Given the description of an element on the screen output the (x, y) to click on. 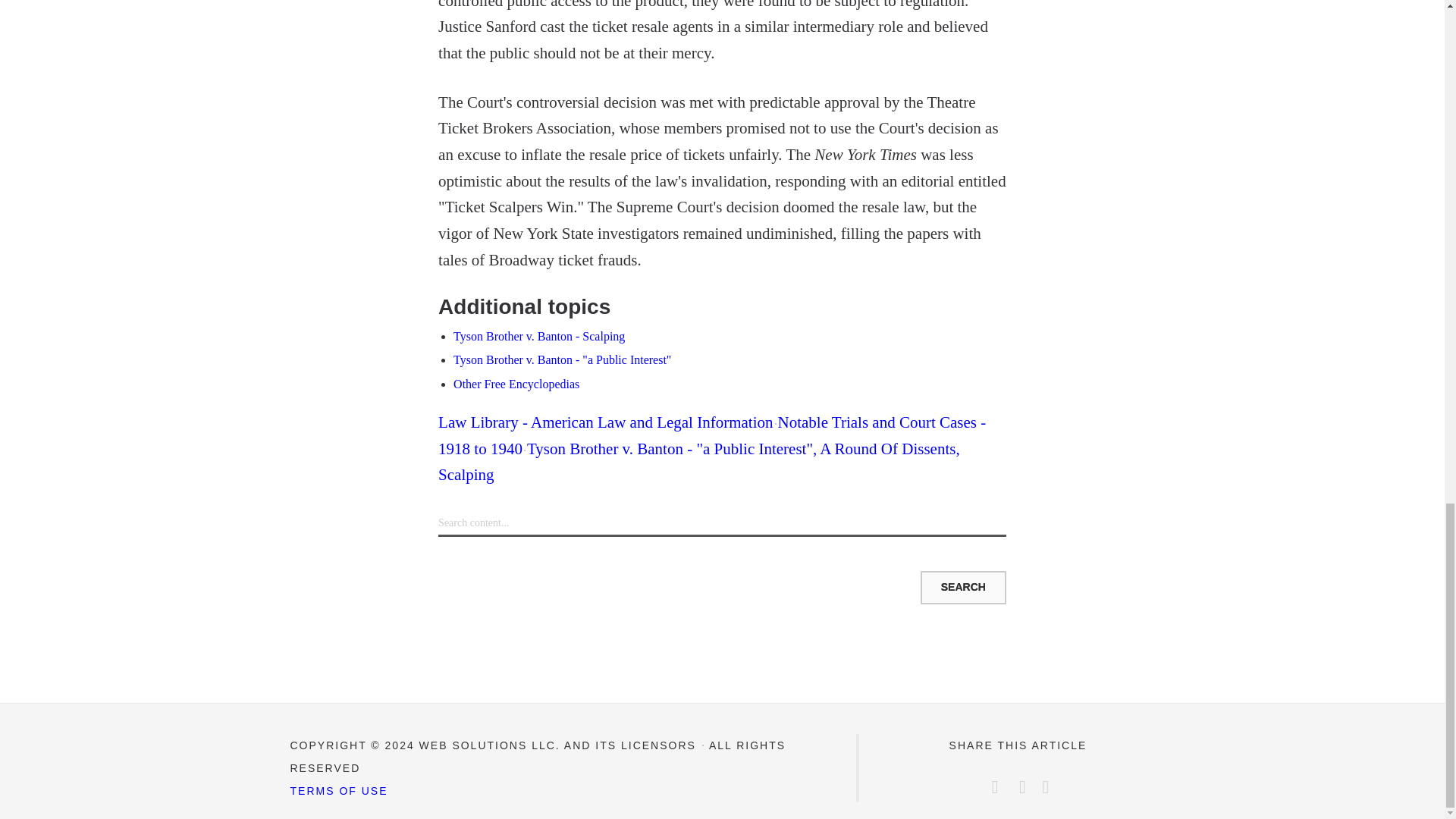
Tyson Brother v. Banton - Scalping (538, 336)
Search (963, 587)
Law Library - American Law and Legal Information (605, 422)
Other Free Encyclopedias (515, 383)
Tyson Brother v. Banton - "a Public Interest" (561, 359)
Search (963, 587)
Notable Trials and Court Cases - 1918 to 1940 (711, 435)
TERMS OF USE (338, 790)
